Given the description of an element on the screen output the (x, y) to click on. 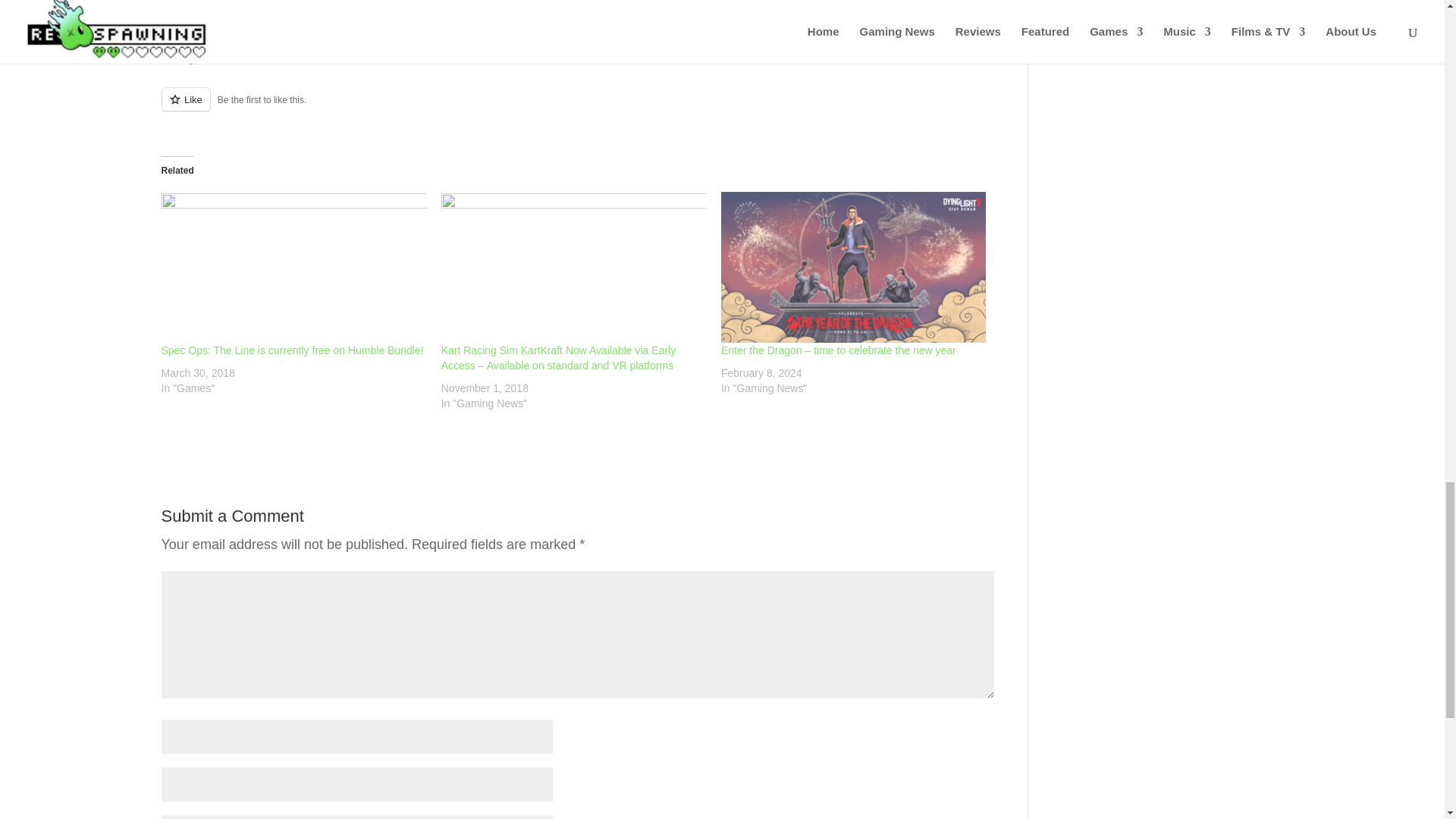
Like or Reblog (577, 107)
Spec Ops: The Line is currently free on Humble Bundle! (291, 349)
Spec Ops: The Line is currently free on Humble Bundle! (292, 267)
